Given the description of an element on the screen output the (x, y) to click on. 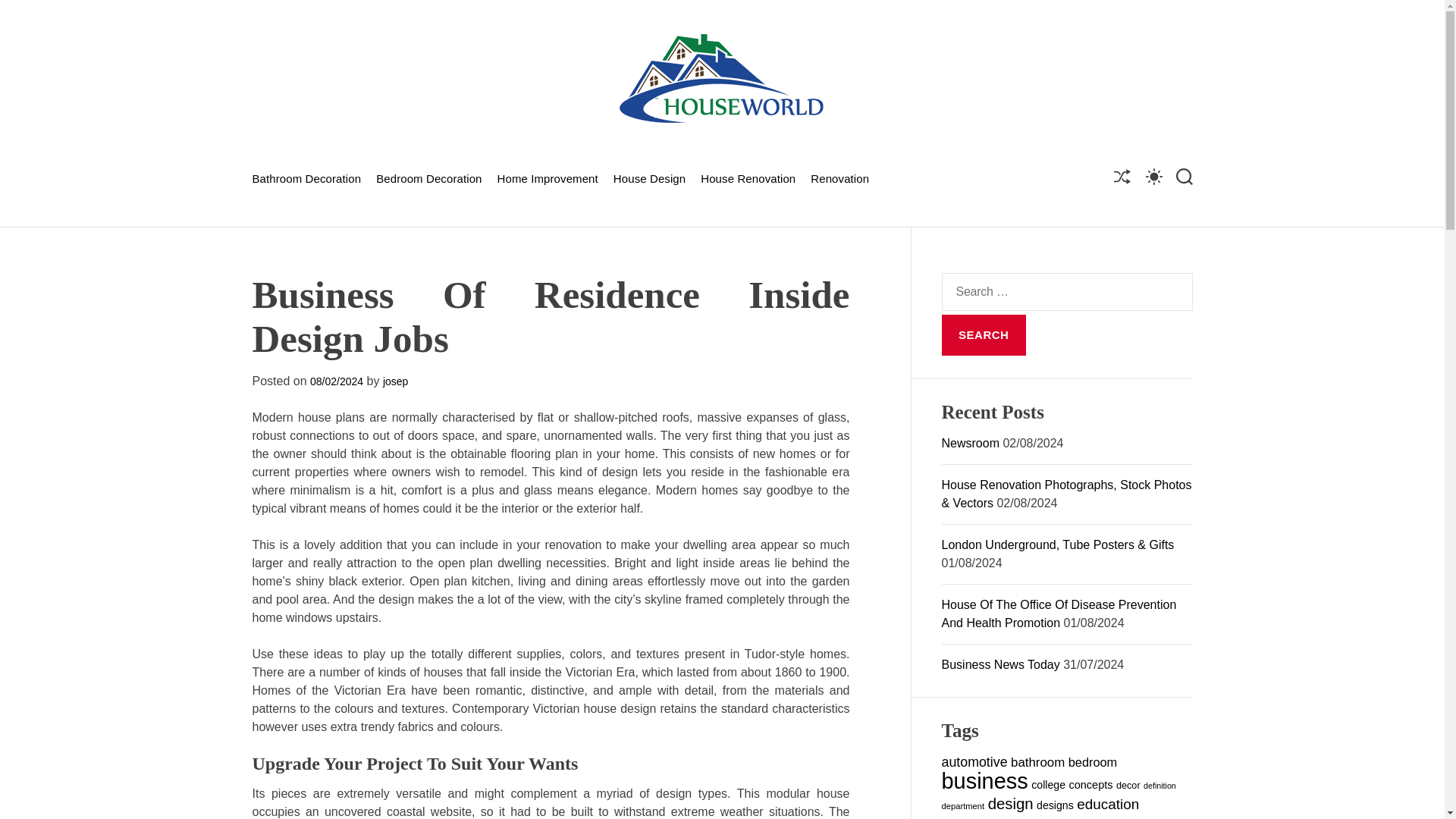
Search (984, 334)
Renovation (839, 177)
Newsroom (970, 442)
josep (394, 381)
Search (984, 334)
House Design (648, 177)
Home Improvement (547, 177)
SWITCH COLOR MODE (1152, 175)
Search (984, 334)
Bedroom Decoration (428, 177)
